Given the description of an element on the screen output the (x, y) to click on. 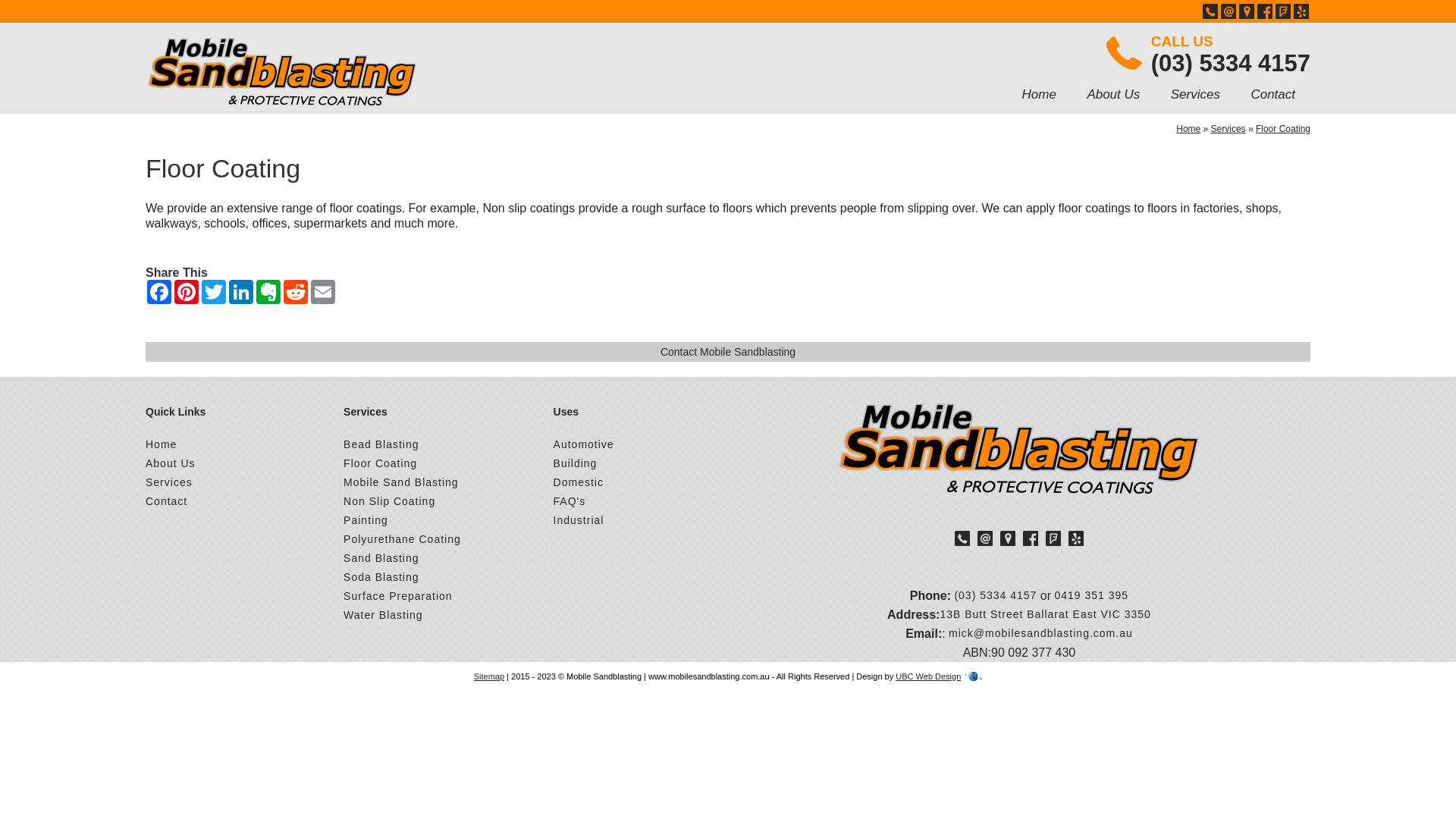
Sitemap Element type: text (488, 675)
Home Element type: text (1039, 94)
Contact Element type: text (1272, 94)
13B Butt Street Ballarat East VIC 3350 Element type: text (1044, 614)
(03) 5334 4157 Element type: text (994, 595)
Home Element type: text (1188, 128)
Domestic Element type: text (578, 482)
Mobile Sand Blasting Element type: text (400, 482)
About Us Element type: text (170, 463)
Contact Element type: text (166, 501)
Reddit Element type: text (295, 291)
Soda Blasting Element type: text (380, 576)
LinkedIn Element type: text (240, 291)
Industrial Element type: text (578, 520)
UBC Web Design Element type: text (927, 675)
About Us Element type: text (1112, 94)
Sand Blasting Element type: text (380, 558)
Facebook Element type: text (158, 291)
Floor Coating Element type: text (1282, 128)
Non Slip Coating Element type: text (389, 501)
Services Element type: text (168, 482)
(03) 5334 4157 Element type: text (1230, 63)
Mobile Sandblasting Element type: hover (1019, 448)
Polyurethane Coating Element type: text (402, 539)
Pinterest Element type: text (186, 291)
Building Element type: text (575, 463)
Surface Preparation Element type: text (397, 595)
Twitter Element type: text (213, 291)
Bead Blasting Element type: text (380, 444)
Painting Element type: text (365, 520)
Services Element type: text (1195, 94)
Contact Mobile Sandblasting Element type: text (727, 351)
Home Element type: text (160, 444)
mick@mobilesandblasting.com.au Element type: text (1040, 633)
Services Element type: text (1228, 128)
Water Blasting Element type: text (383, 614)
FAQ's Element type: text (569, 501)
Automotive Element type: text (583, 444)
Mobile Sandblasting Element type: hover (281, 71)
0419 351 395 Element type: text (1091, 595)
Call us Element type: hover (1124, 53)
Evernote Element type: text (268, 291)
Floor Coating Element type: text (380, 463)
Email Element type: text (322, 291)
